Given the description of an element on the screen output the (x, y) to click on. 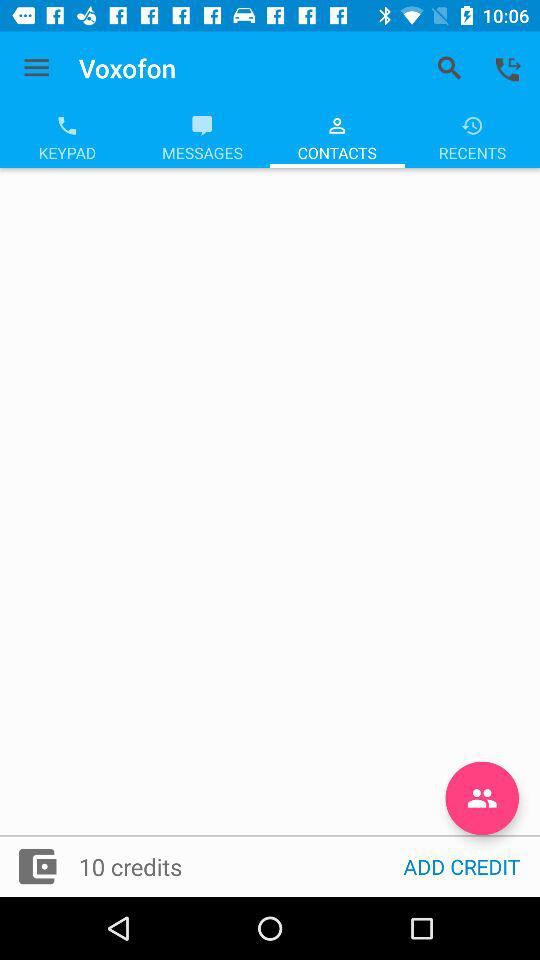
turn off the item to the left of voxofon (36, 68)
